Given the description of an element on the screen output the (x, y) to click on. 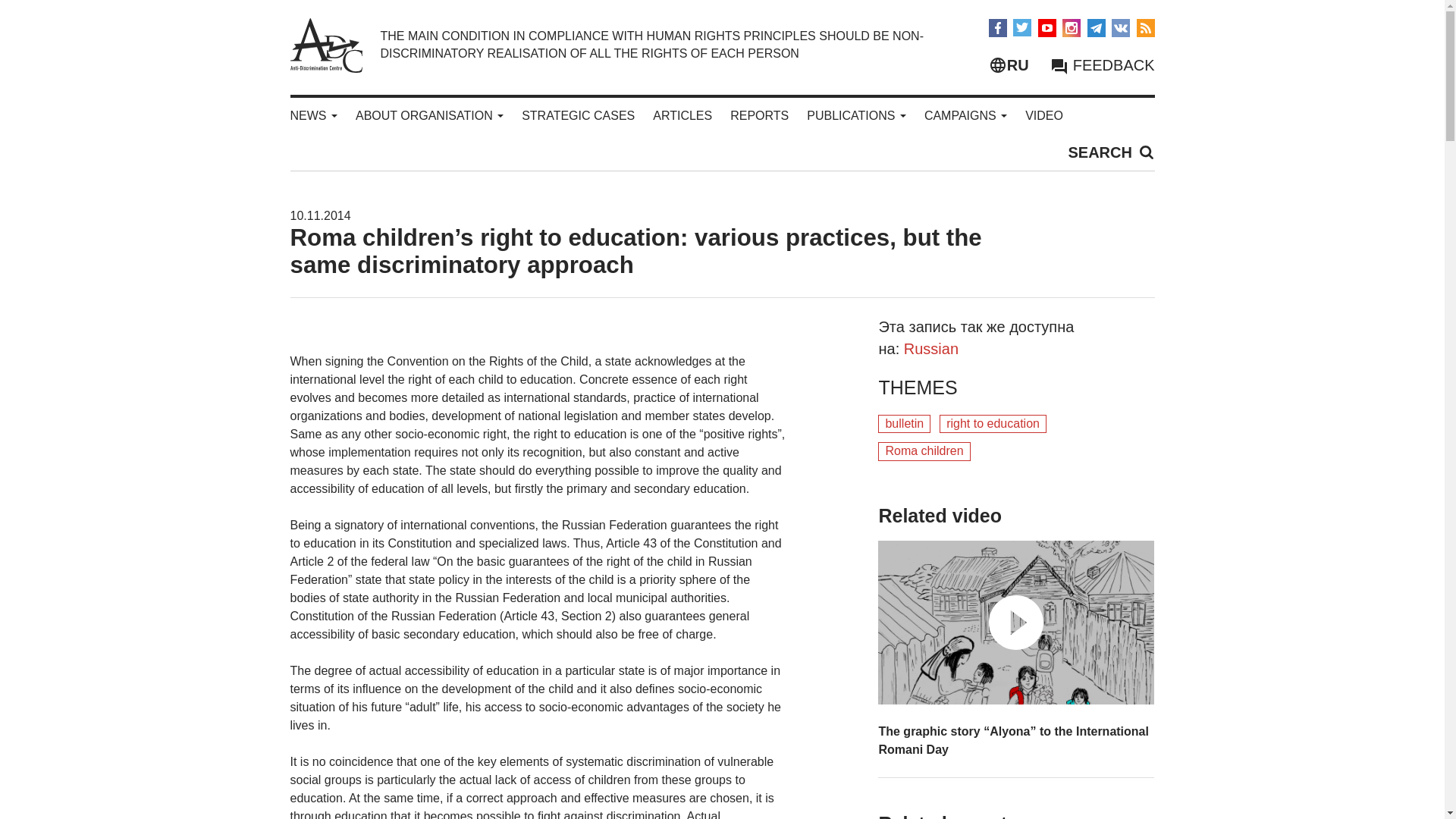
right to education (992, 424)
ARTICLES (681, 115)
FEEDBACK (1101, 64)
bulletin (903, 424)
PUBLICATIONS (855, 115)
STRATEGIC CASES (577, 115)
VIDEO (1043, 115)
About organisation (429, 115)
News (312, 115)
Russian (931, 348)
CAMPAIGNS (965, 115)
Publications (855, 115)
Articles (681, 115)
Strategic cases (577, 115)
Reports (759, 115)
